Given the description of an element on the screen output the (x, y) to click on. 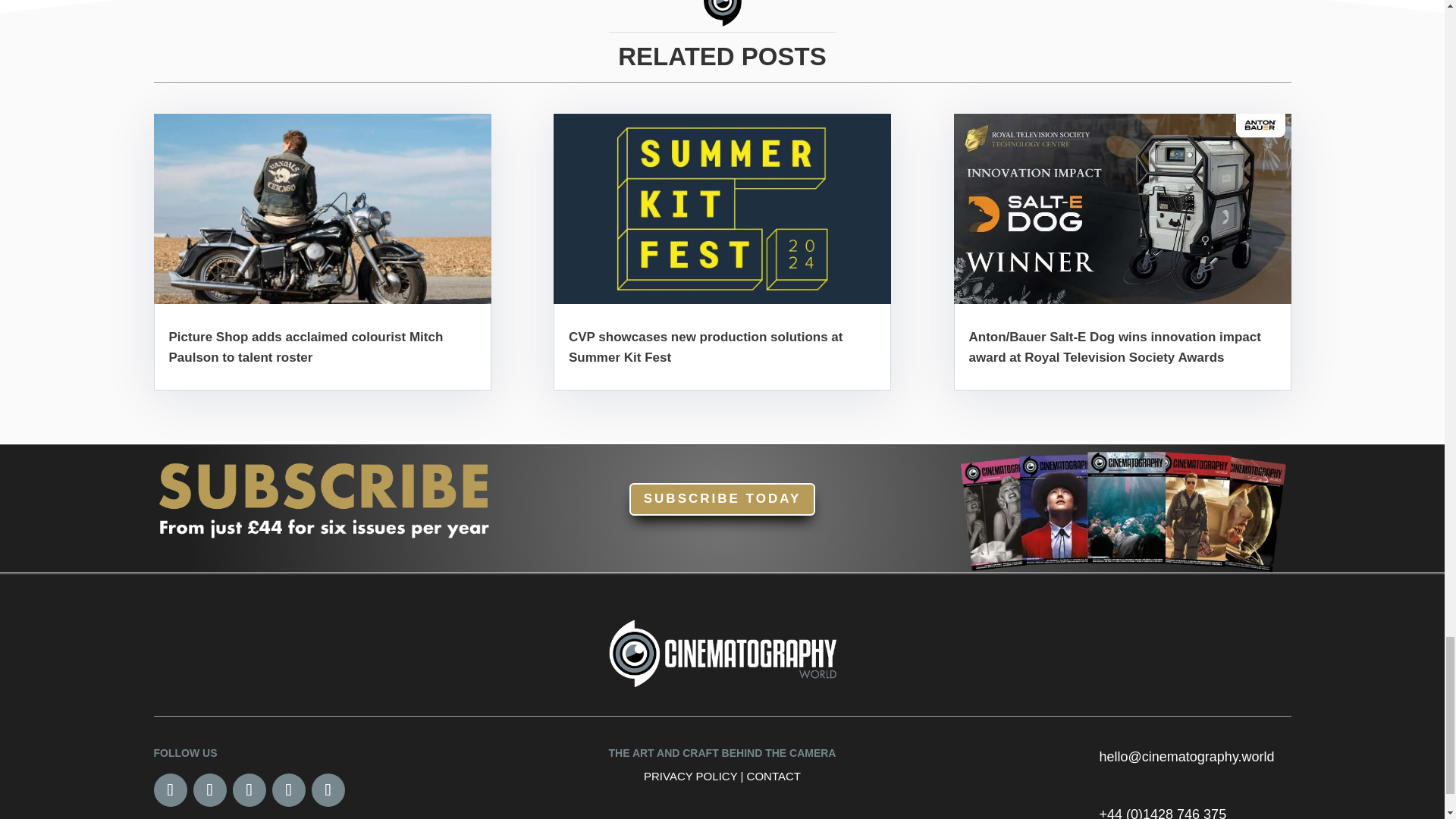
subscribe-wide-web-mags (1122, 508)
sub1 (321, 497)
Follow on Facebook (169, 789)
eyeeye (722, 13)
